Given the description of an element on the screen output the (x, y) to click on. 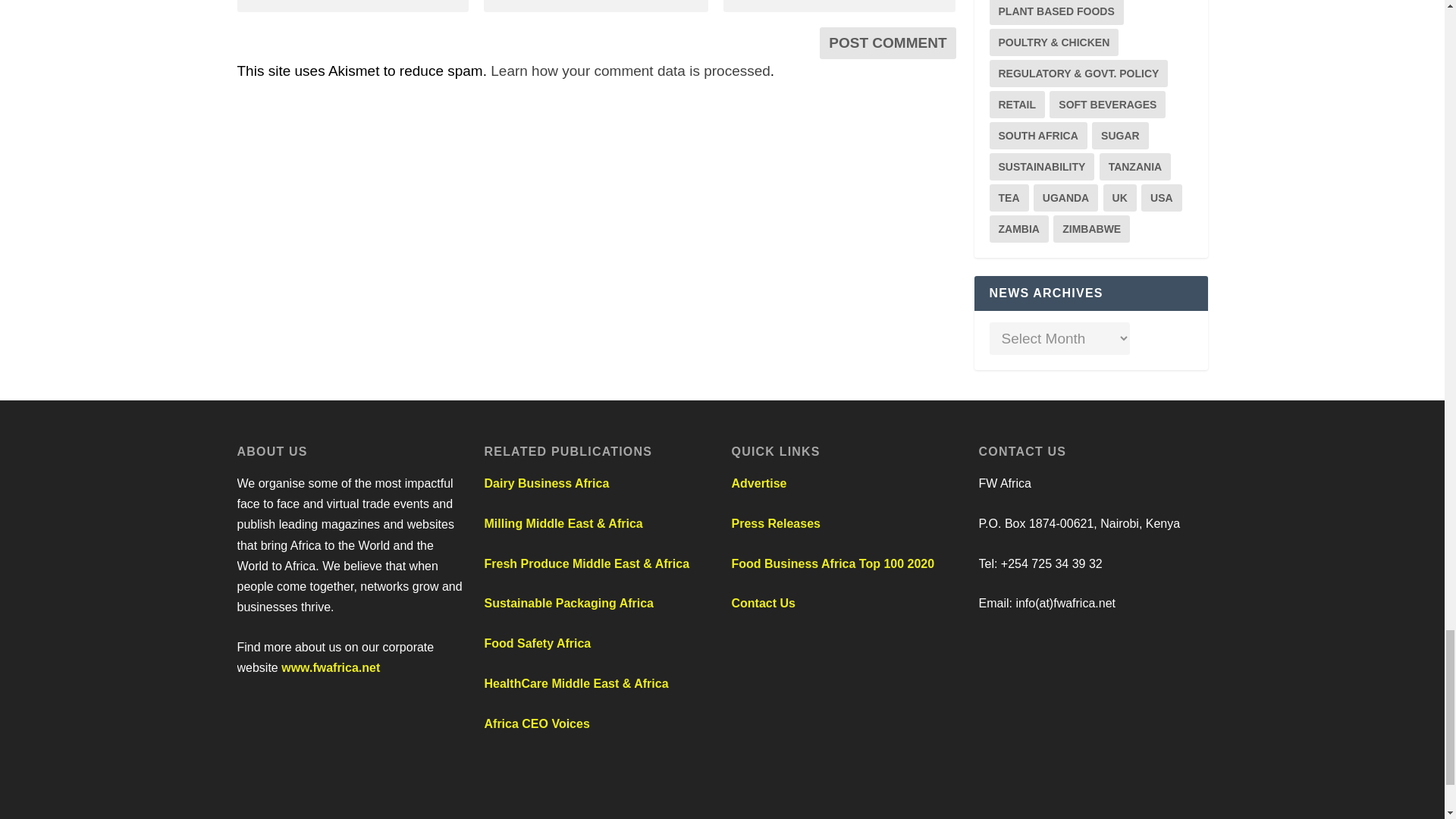
Post Comment (887, 42)
